Given the description of an element on the screen output the (x, y) to click on. 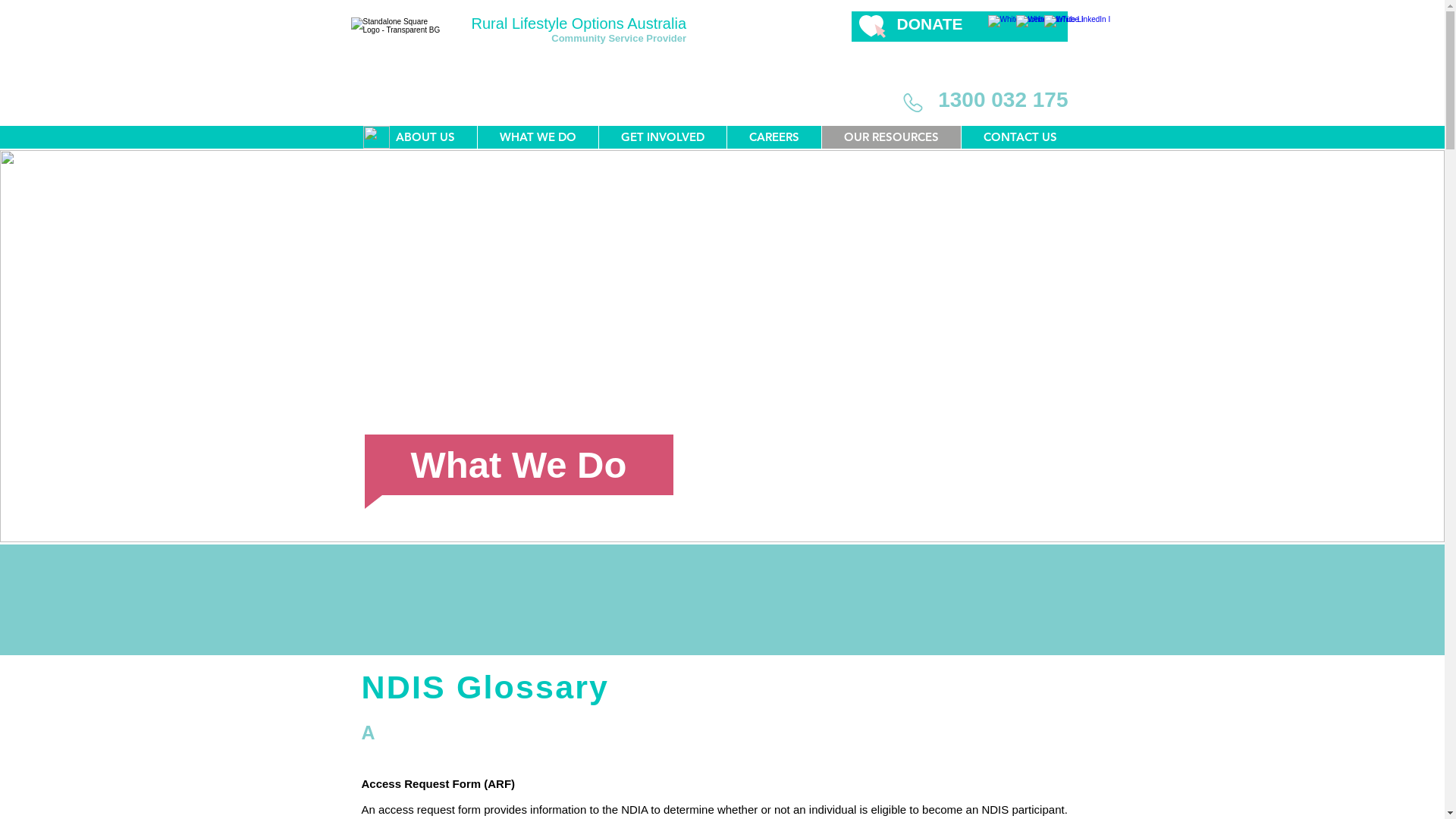
WHAT WE DO Element type: text (536, 136)
OUR RESOURCES Element type: text (890, 136)
GET INVOLVED Element type: text (661, 136)
CONTACT US Element type: text (1019, 136)
Home Element type: hover (375, 136)
What We Do Element type: text (519, 464)
DONATE Element type: text (929, 23)
CAREERS Element type: text (773, 136)
1300 032 175 Element type: hover (1011, 14)
1300 032 175 Element type: text (1002, 99)
ABOUT US Element type: text (424, 136)
